Given the description of an element on the screen output the (x, y) to click on. 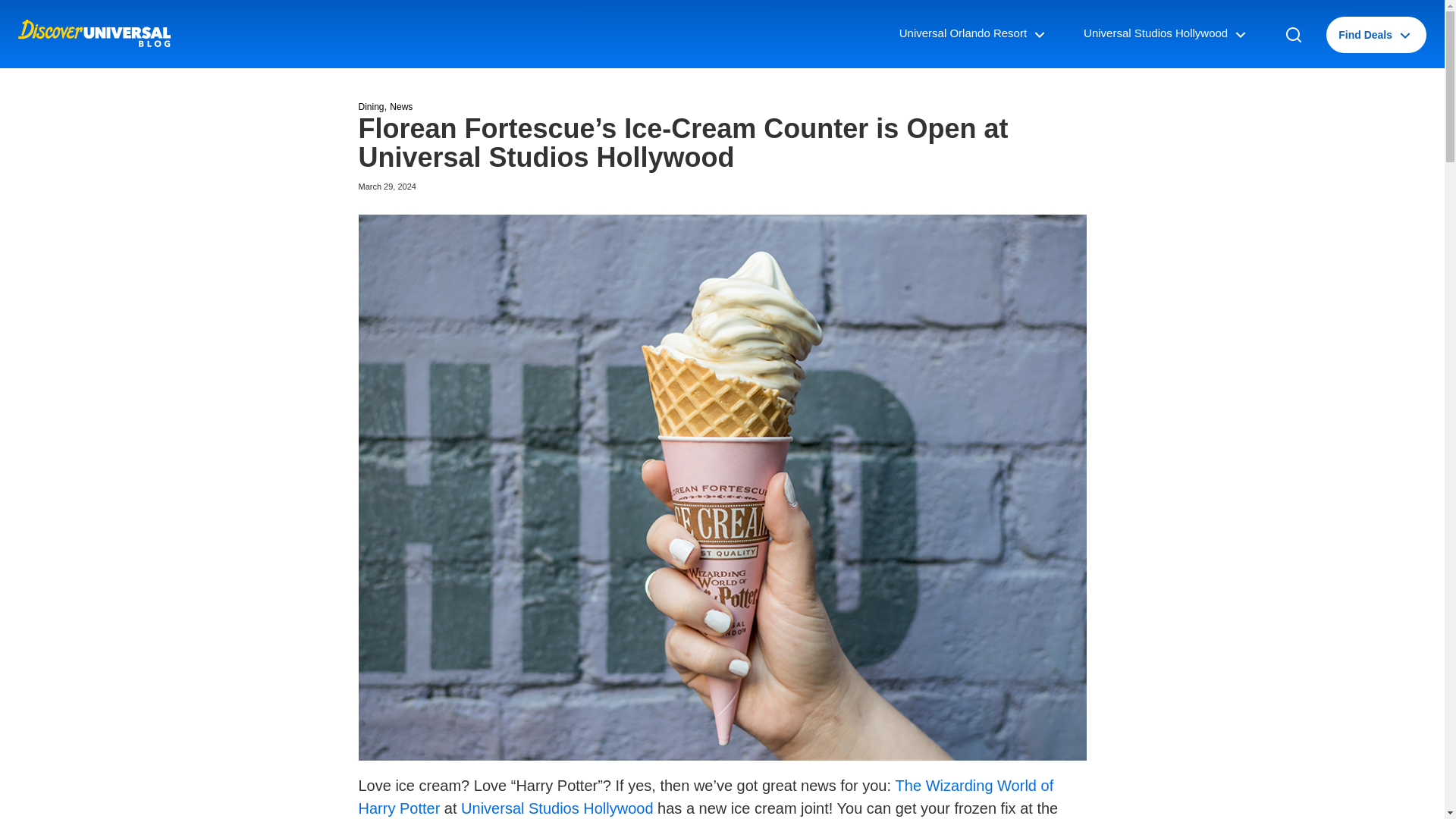
View all posts in News (401, 106)
Universal Studios Hollywood (1166, 34)
View all posts in Dining (371, 106)
Universal Orlando Resort (973, 34)
SEARCH (1301, 34)
Find Deals (1376, 34)
